Given the description of an element on the screen output the (x, y) to click on. 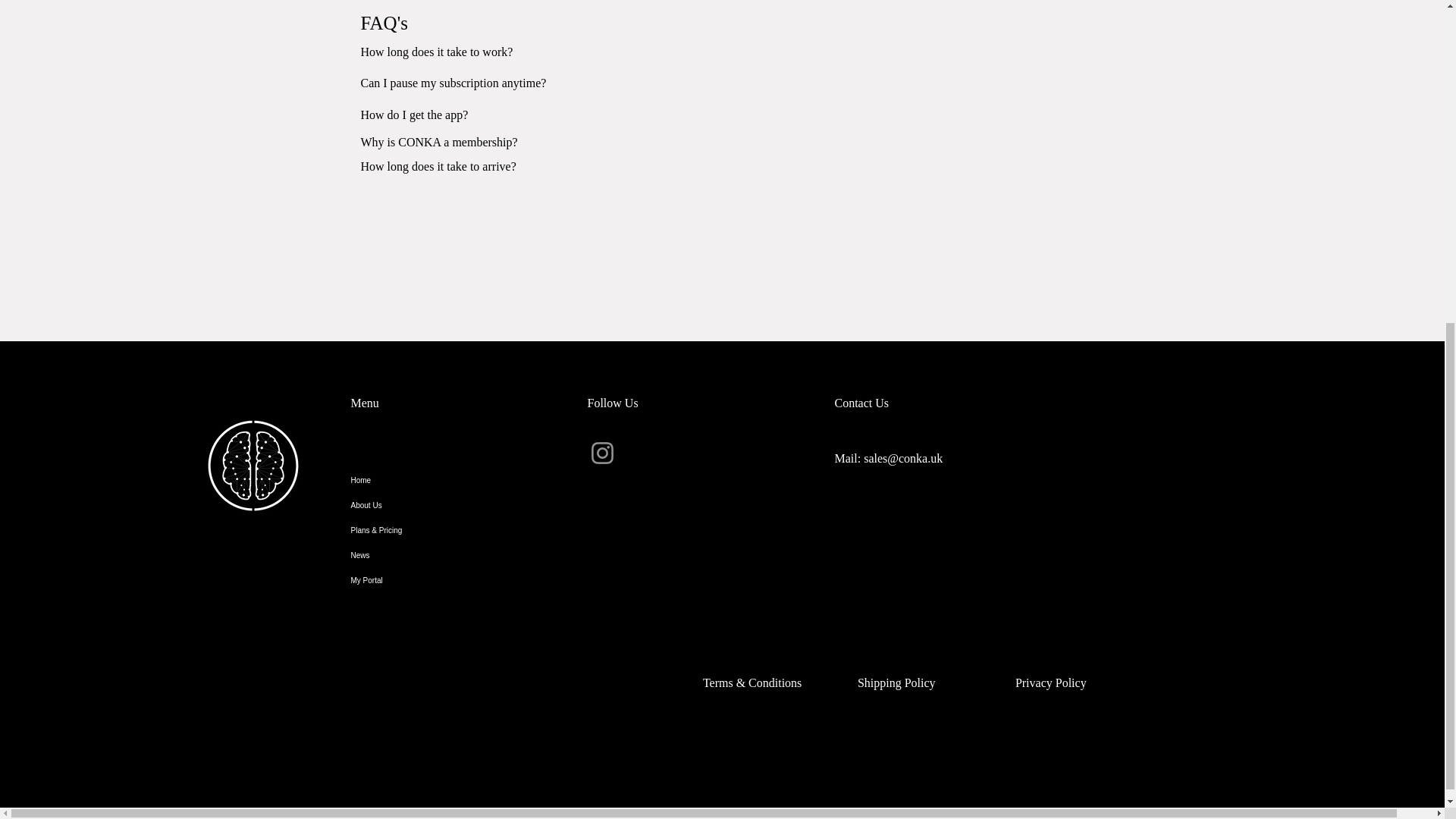
About Us (448, 505)
Privacy Policy (1050, 682)
Home (448, 480)
Shipping Policy (896, 682)
News (448, 555)
My Portal (448, 580)
